Given the description of an element on the screen output the (x, y) to click on. 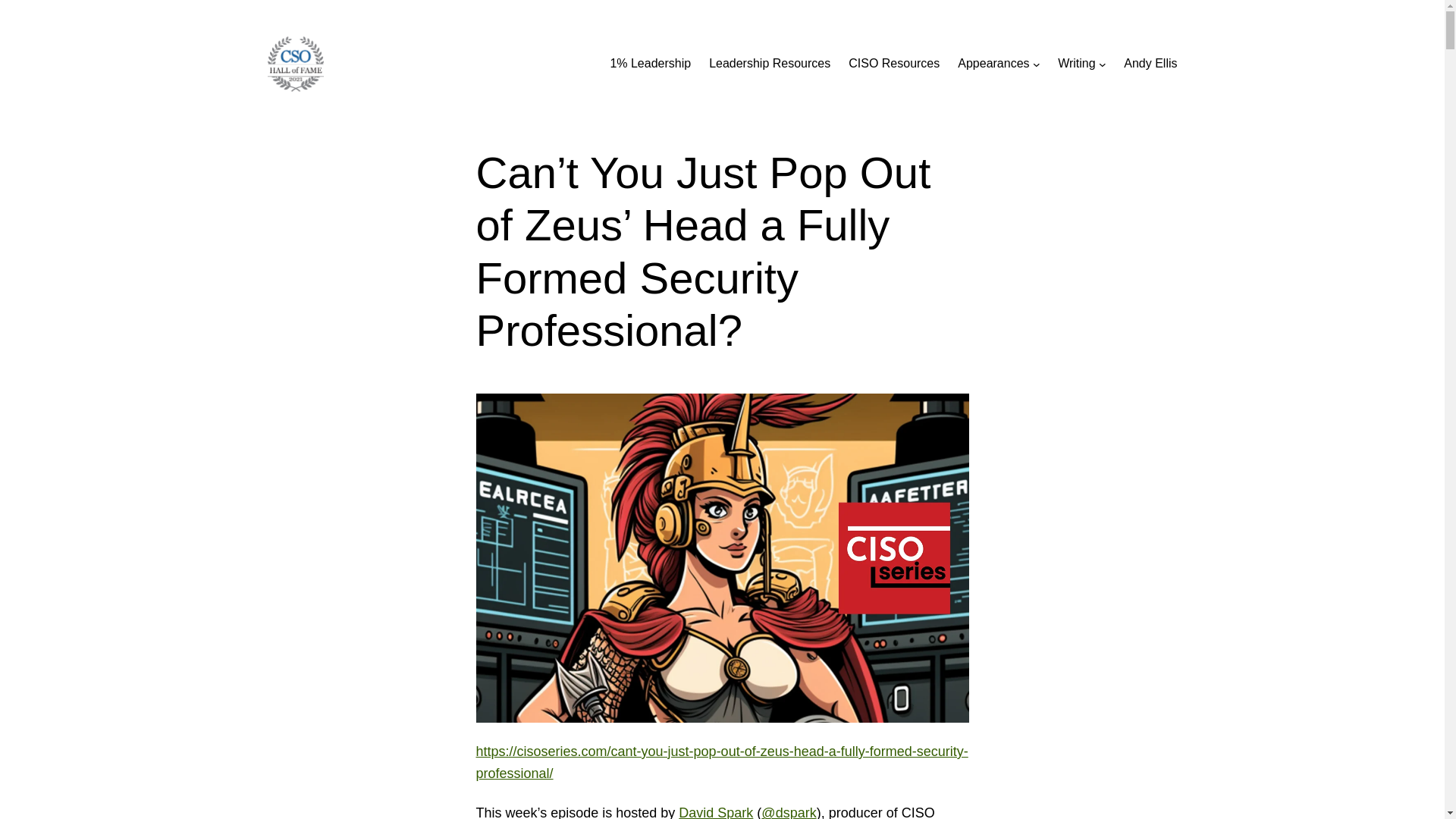
Writing (1077, 63)
CISO Resources (893, 63)
Leadership Resources (769, 63)
Appearances (993, 63)
Andy Ellis (1150, 63)
David Spark (715, 812)
